Given the description of an element on the screen output the (x, y) to click on. 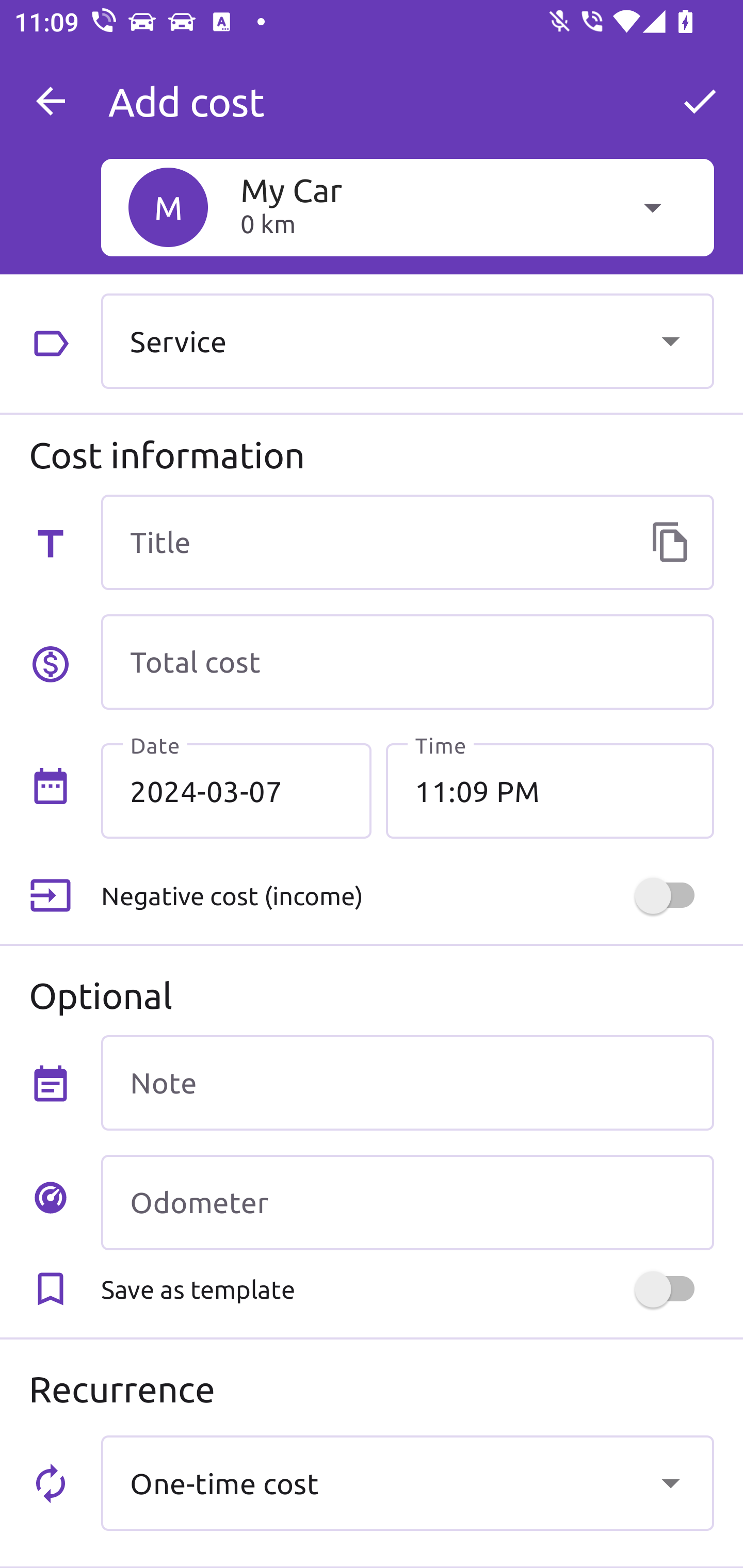
Navigate up (50, 101)
OK (699, 101)
M My Car 0 km (407, 206)
Service (407, 340)
Show dropdown menu (670, 340)
Title (407, 541)
Templates (670, 541)
Total cost  (407, 662)
2024-03-07 (236, 790)
11:09 PM (549, 790)
Negative cost (income) (407, 895)
Note (407, 1082)
Odometer (407, 1202)
Save as template (407, 1289)
One-time cost (407, 1482)
Show dropdown menu (670, 1482)
